Given the description of an element on the screen output the (x, y) to click on. 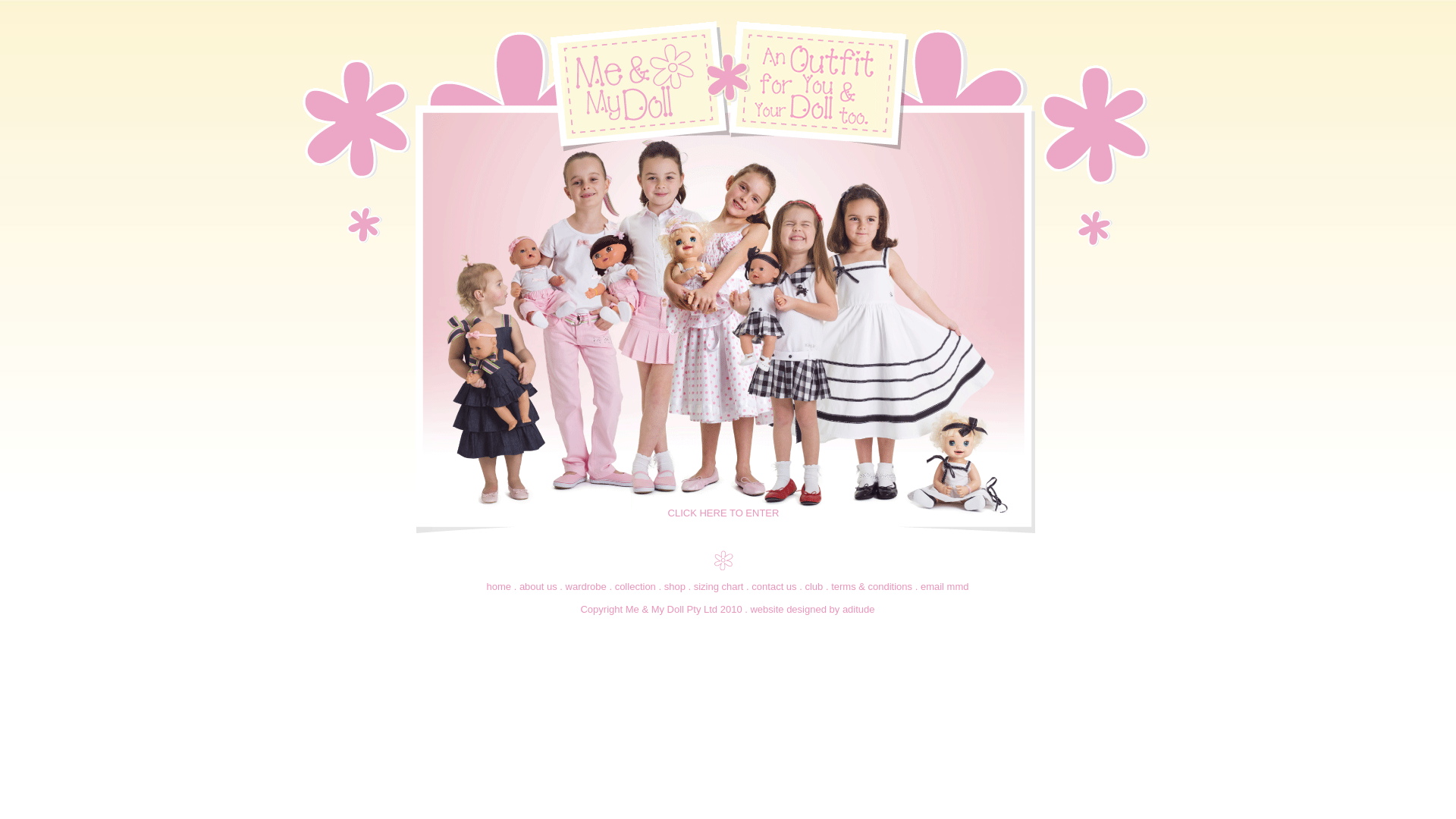
club Element type: text (813, 586)
contact us Element type: text (773, 586)
terms & conditions Element type: text (871, 586)
sizing chart Element type: text (718, 586)
wardrobe Element type: text (585, 586)
collection Element type: text (635, 586)
email mmd Element type: text (944, 586)
shop Element type: text (674, 586)
about us Element type: text (538, 586)
aditude Element type: text (858, 609)
home Element type: text (498, 586)
CLICK HERE TO ENTER Element type: text (723, 511)
